Given the description of an element on the screen output the (x, y) to click on. 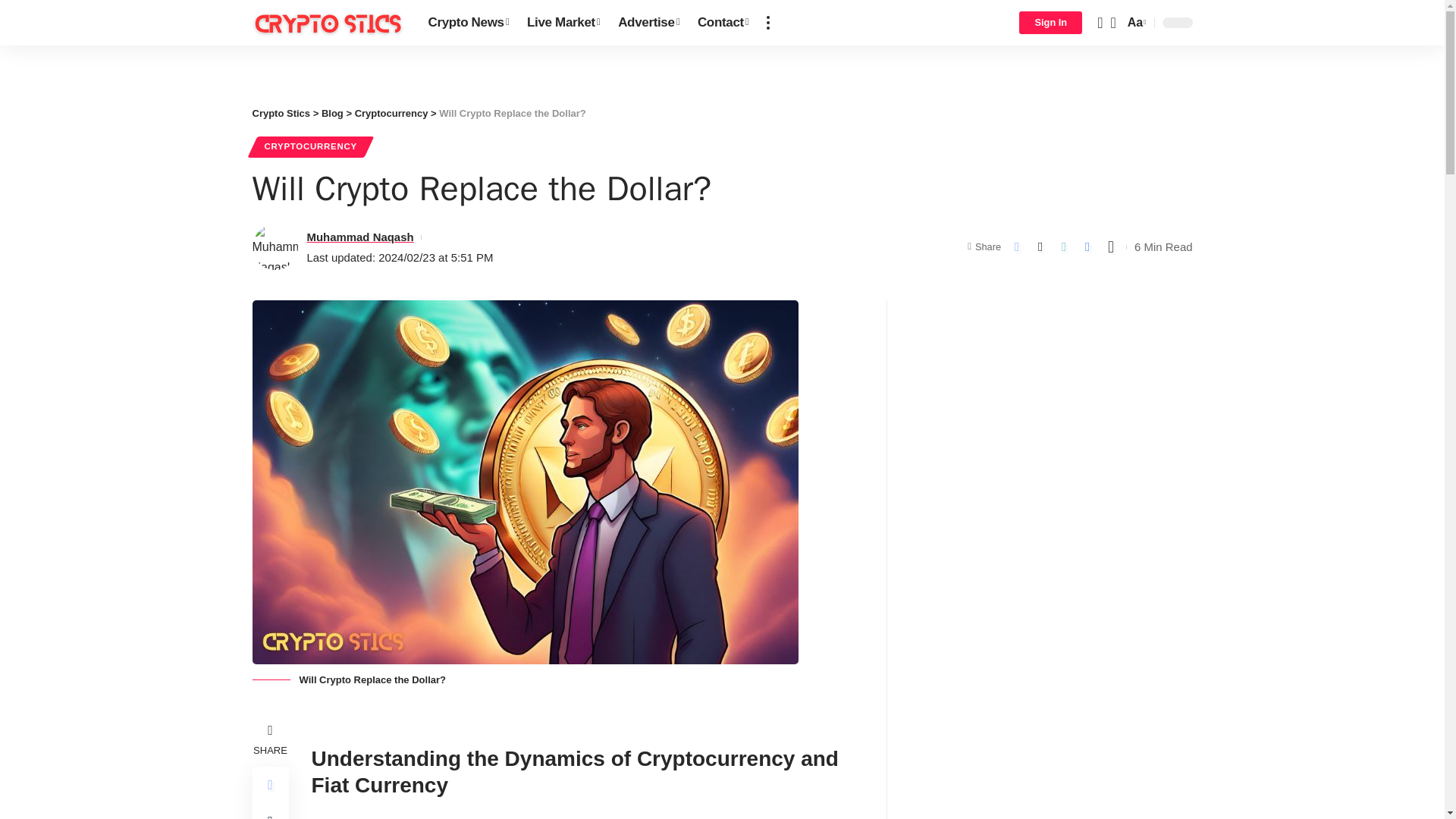
Crypto News (468, 22)
Live Market (563, 22)
Go to Blog. (332, 112)
Contact (722, 22)
Go to the Cryptocurrency Category archives. (391, 112)
Advertise (648, 22)
Crypto Stics (327, 22)
Go to Crypto Stics. (280, 112)
